Given the description of an element on the screen output the (x, y) to click on. 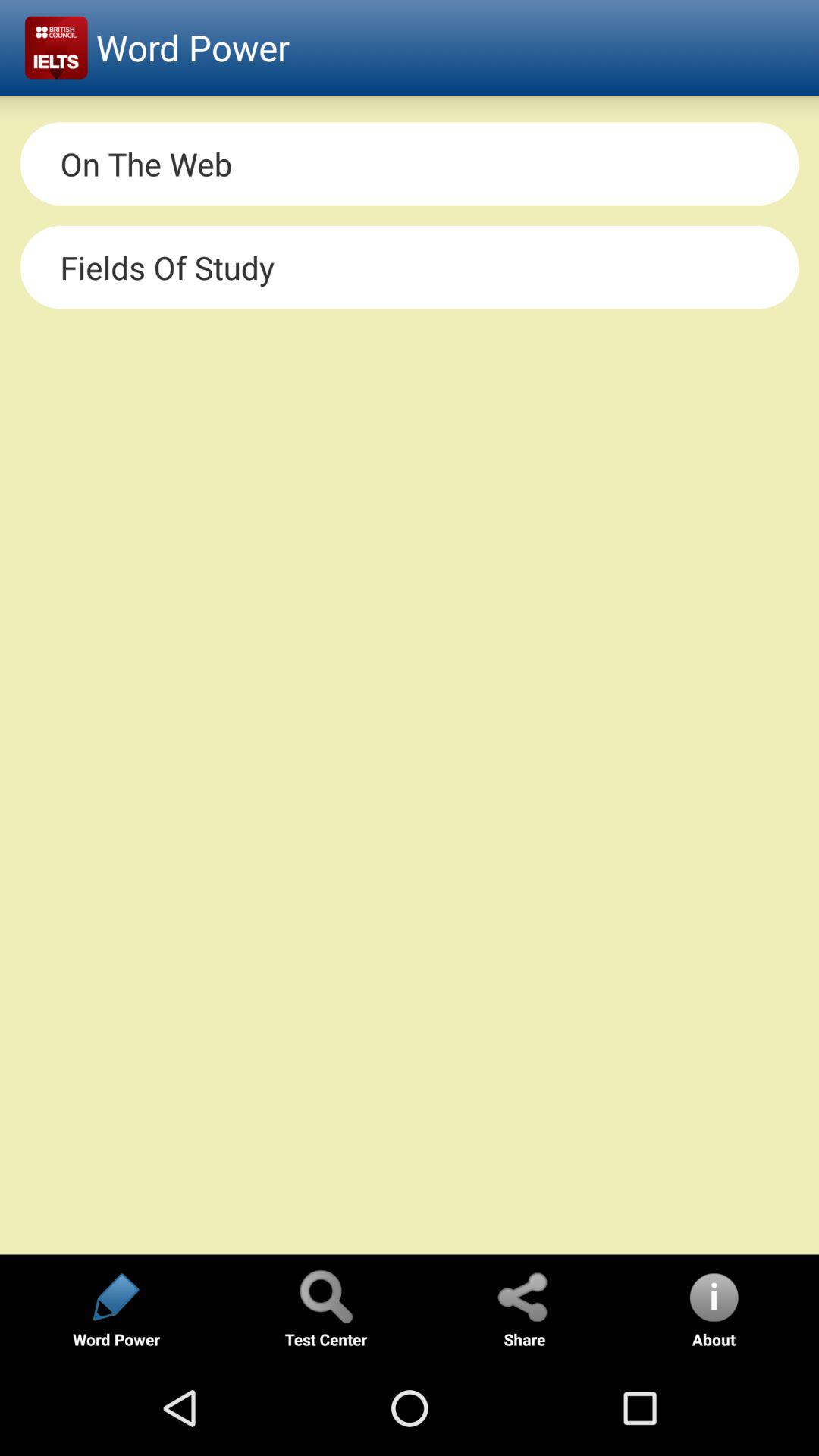
launch item above fields of study (409, 163)
